Given the description of an element on the screen output the (x, y) to click on. 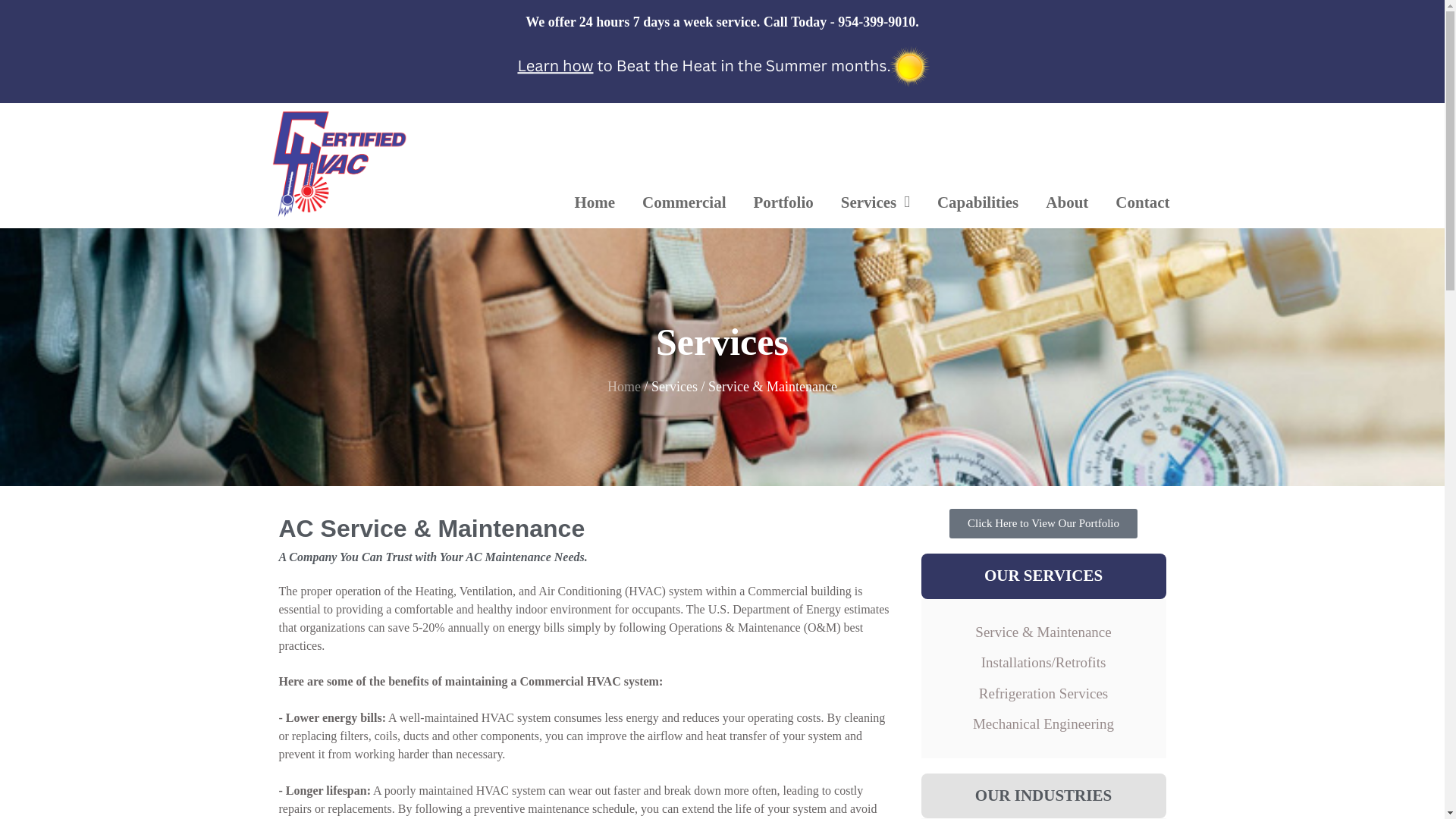
Portfolio (782, 202)
About (1067, 202)
Services (875, 202)
Commercial (684, 202)
Home (594, 202)
Contact (1142, 202)
Capabilities (977, 202)
